Given the description of an element on the screen output the (x, y) to click on. 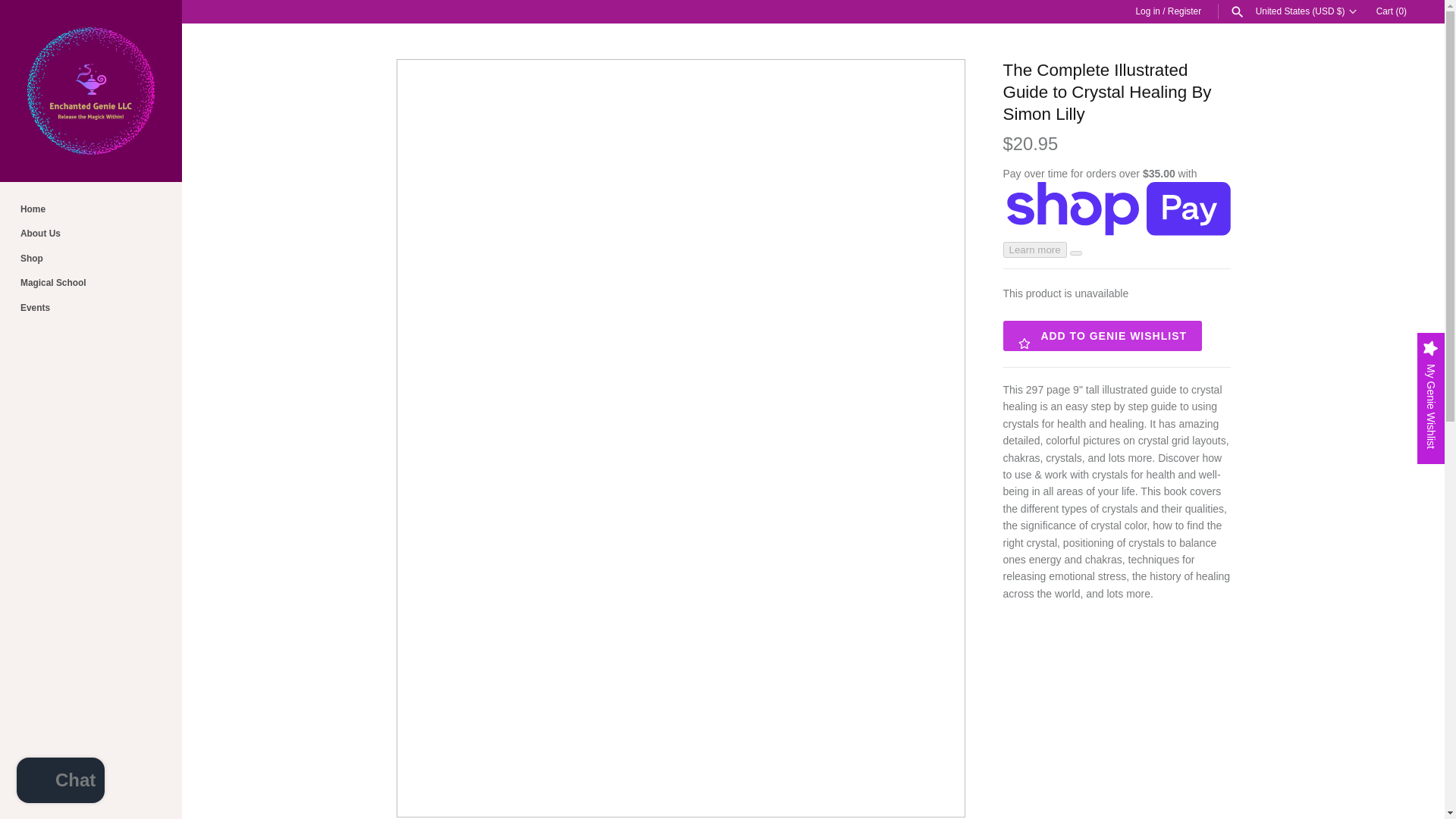
Log in (1146, 10)
Register (1184, 10)
Shopify online store chat (60, 781)
Enchanted Genie LLC (91, 90)
